Given the description of an element on the screen output the (x, y) to click on. 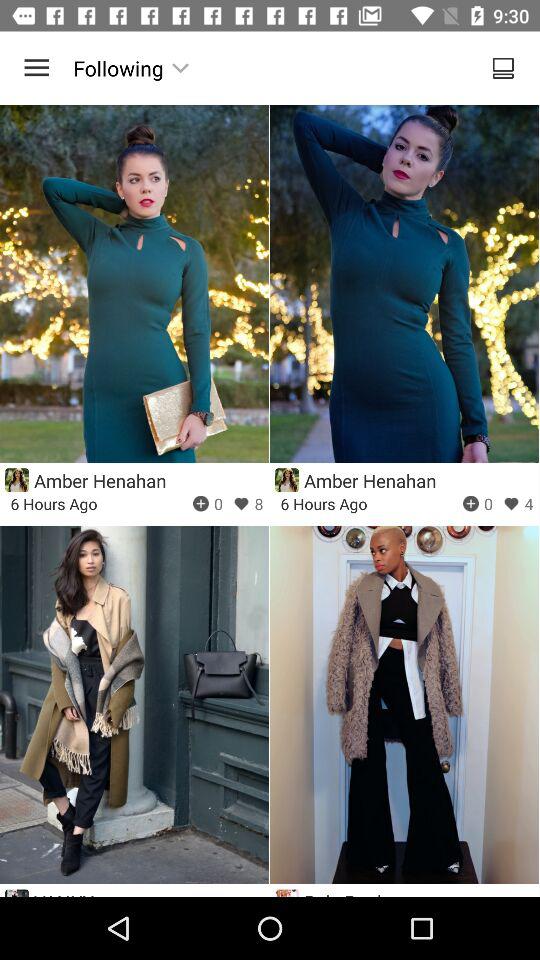
tap the icon to the left of following (36, 68)
